Given the description of an element on the screen output the (x, y) to click on. 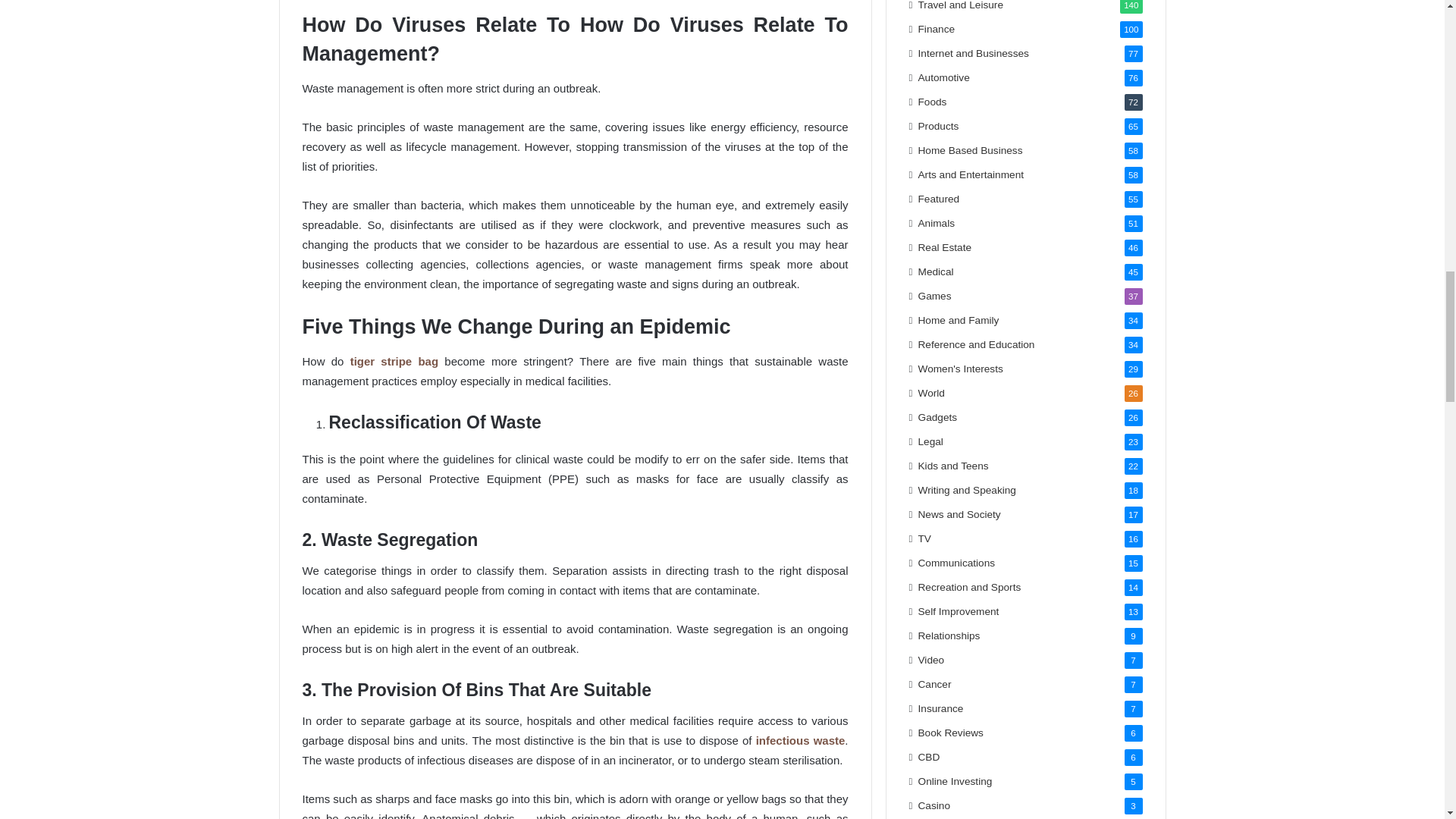
tiger stripe bag (394, 360)
infectious waste (800, 739)
